Given the description of an element on the screen output the (x, y) to click on. 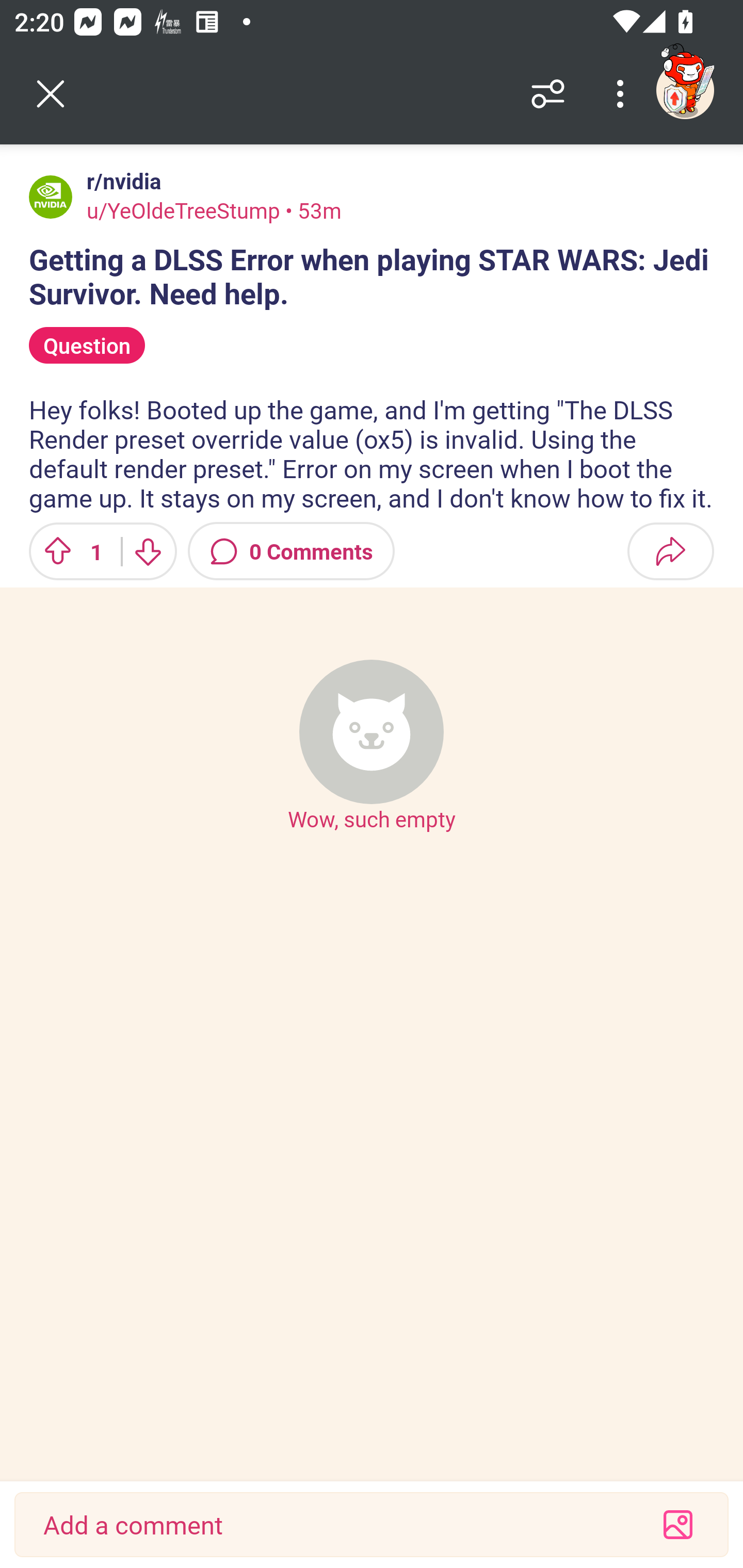
Back (50, 93)
TestAppium002 account (685, 90)
Sort comments (547, 93)
More options (623, 93)
r/nvidia (120, 181)
Avatar (50, 196)
u/YeOldeTreeStump (183, 210)
Question (86, 345)
Upvote 1 (67, 551)
Downvote (146, 551)
0 Comments (290, 551)
Share (670, 551)
Add a comment (335, 1524)
Add an image (677, 1524)
